Given the description of an element on the screen output the (x, y) to click on. 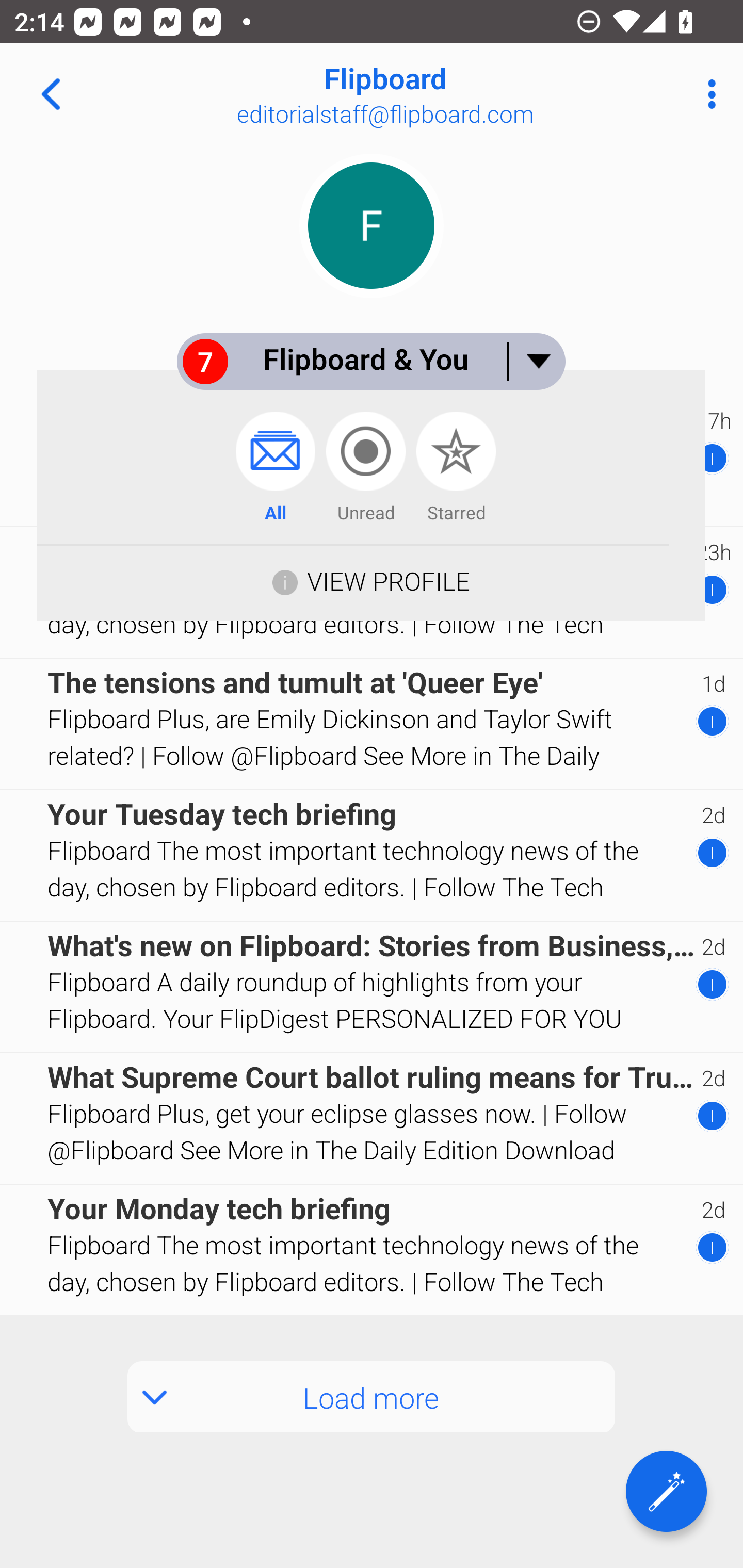
VIEW PROFILE (371, 580)
VIEW PROFILE (388, 580)
